Given the description of an element on the screen output the (x, y) to click on. 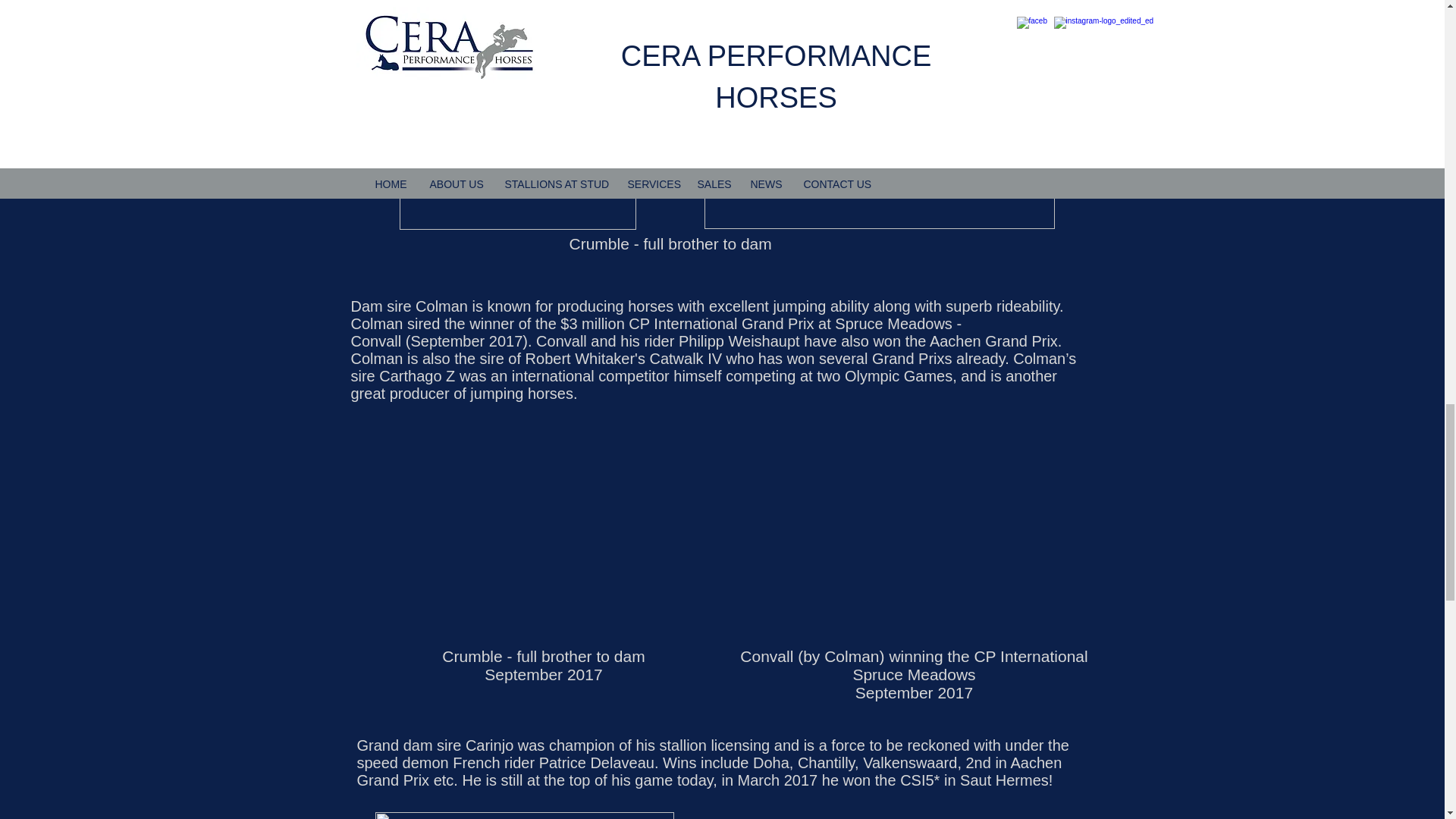
External Facebook (532, 537)
External YouTube (905, 812)
External YouTube (911, 538)
